Given the description of an element on the screen output the (x, y) to click on. 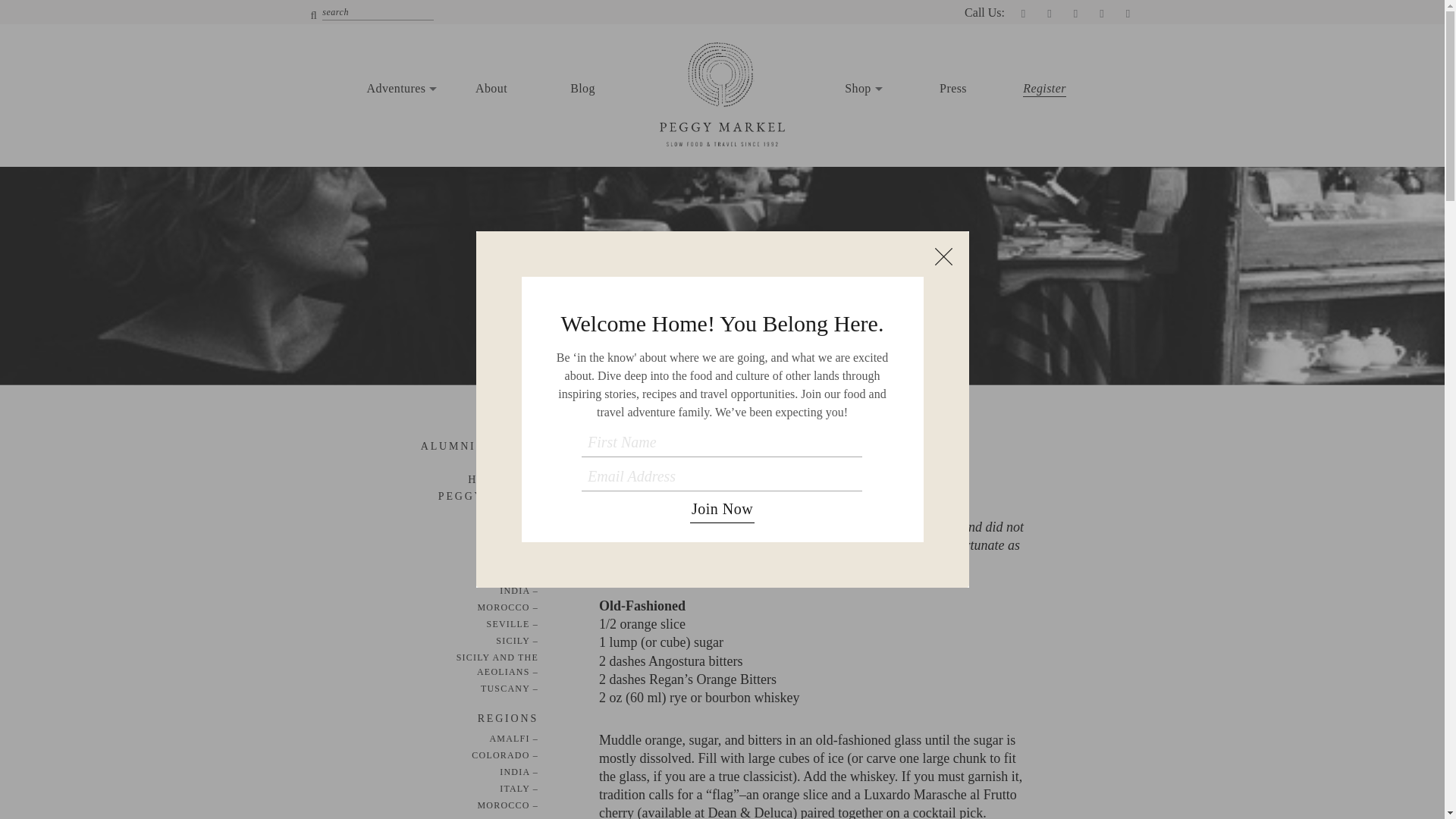
Shop (860, 88)
Blog (582, 88)
Close (943, 256)
Visit us on Youtube (1127, 13)
Visit us on Twitter (1049, 13)
About (490, 88)
Visit us on Instagram (1075, 13)
Adventures (400, 88)
Press (952, 88)
Visit us on Pinterest (1101, 13)
Visit us on Facebook (1022, 13)
Join Now (722, 508)
Register (1045, 88)
